Given the description of an element on the screen output the (x, y) to click on. 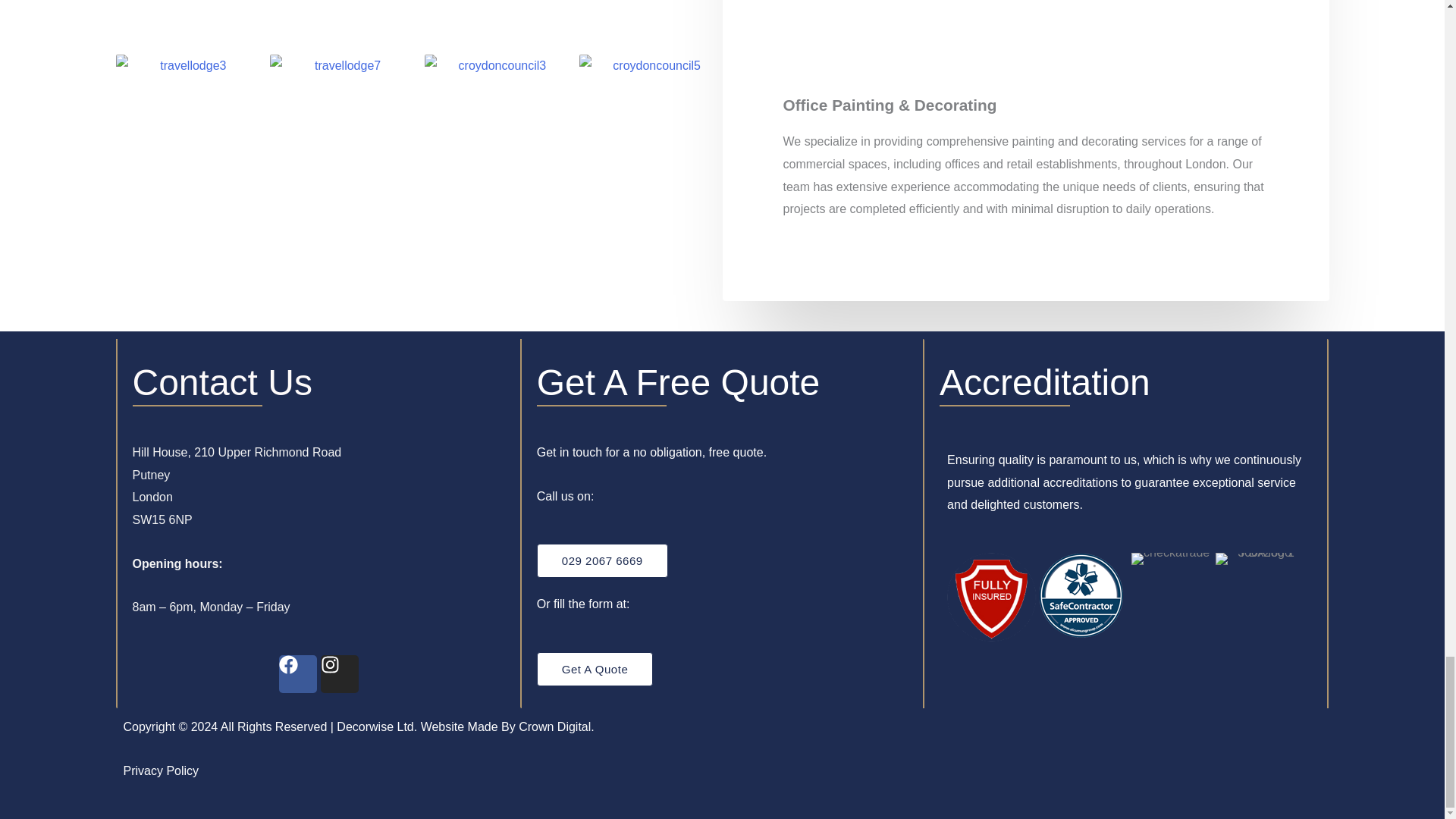
029 2067 6669 (602, 560)
Privacy Policy (160, 770)
croydoncouncil6 (341, 21)
Instagram (339, 673)
croydoncouncil4 (187, 21)
Facebook (298, 673)
officeEC1 Medium (650, 21)
Get A Quote (594, 668)
knightsbridgehotel2 (496, 21)
